Given the description of an element on the screen output the (x, y) to click on. 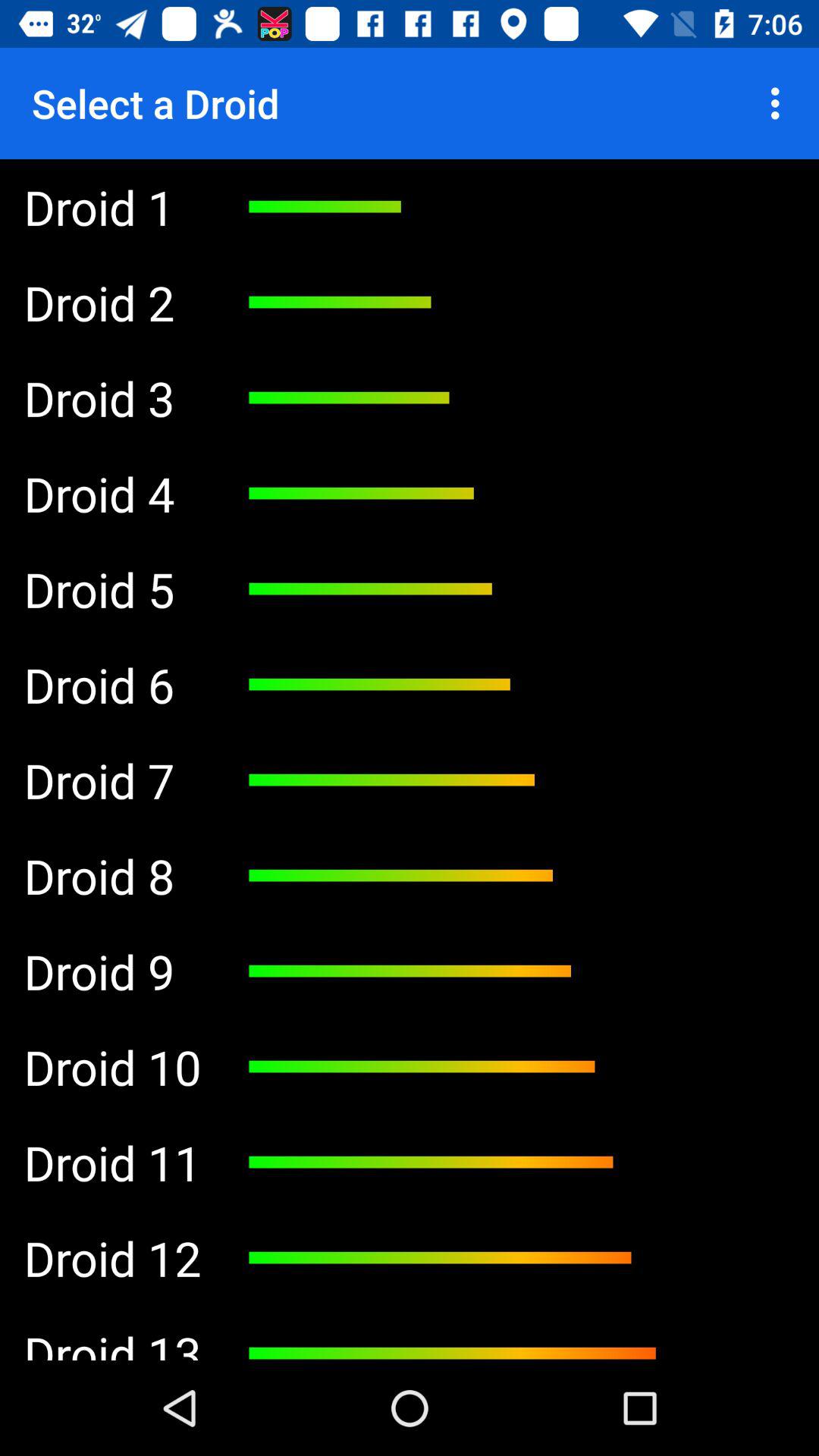
turn off the app below droid 20 app (112, 1257)
